Given the description of an element on the screen output the (x, y) to click on. 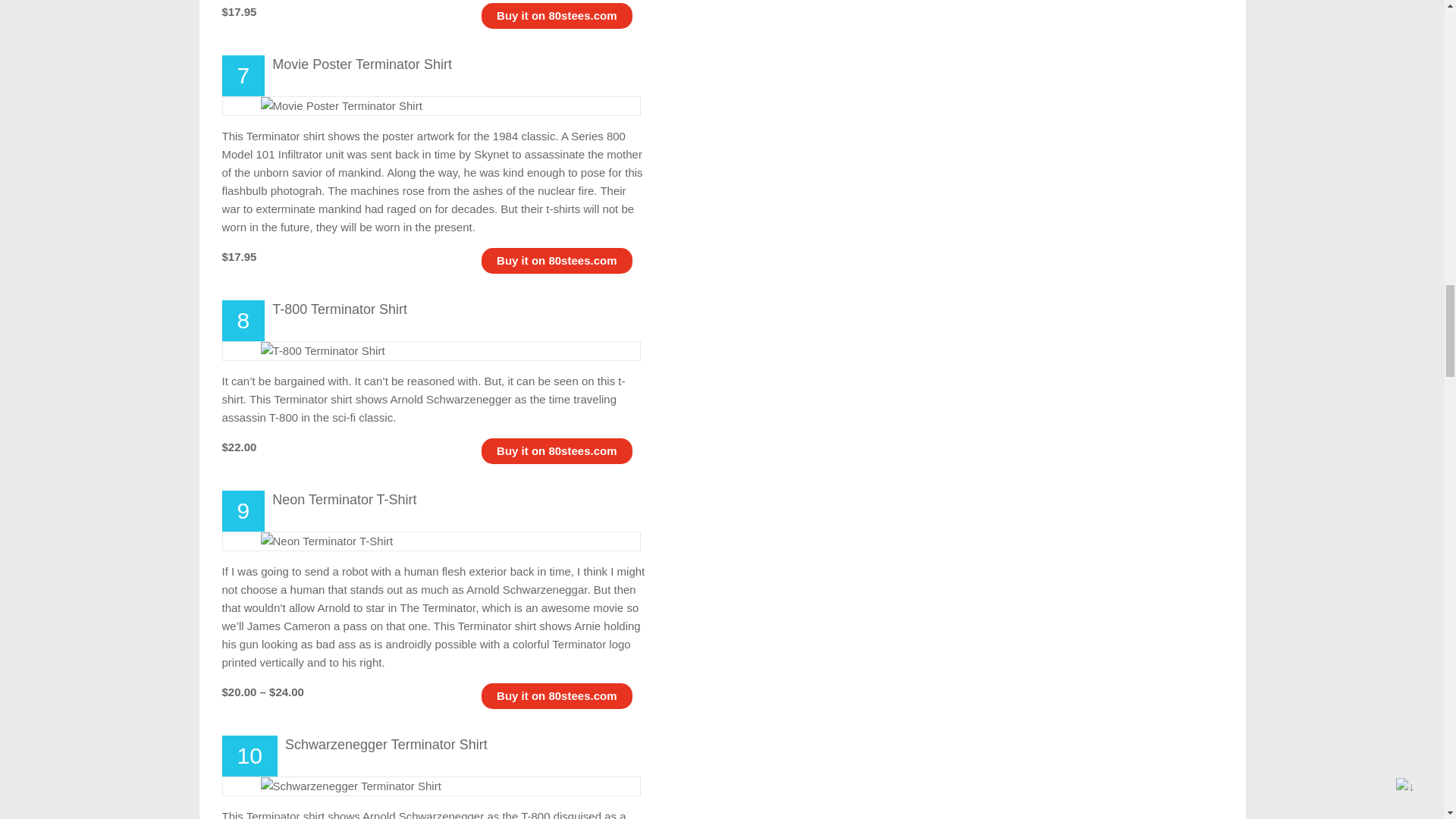
Buy it on 80stees.com (555, 259)
Buy it on 80stees.com (555, 15)
Buy it on 80stees.com (555, 450)
Buy it on 80stees.com (555, 695)
